Given the description of an element on the screen output the (x, y) to click on. 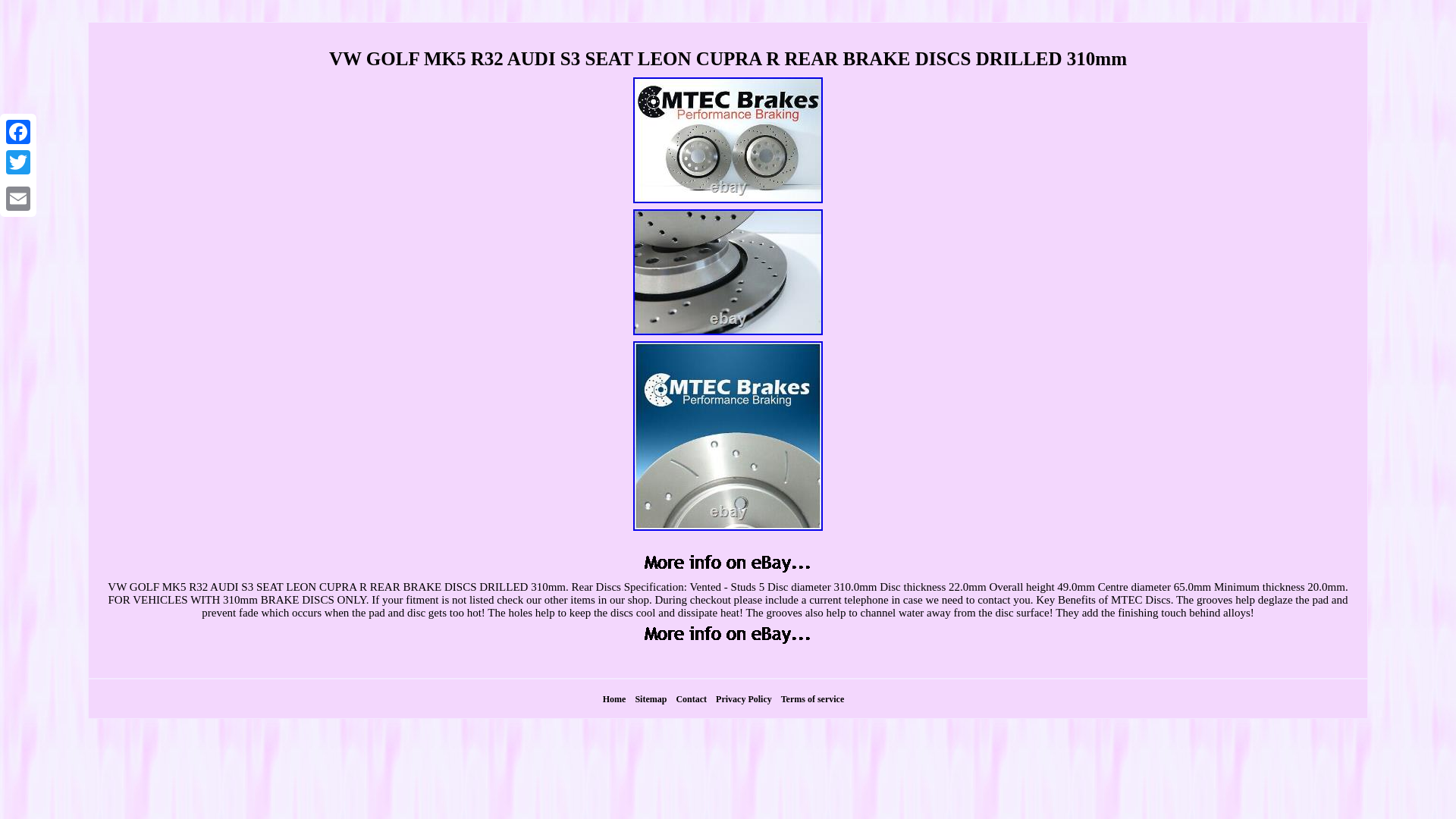
Twitter (17, 162)
Email (17, 198)
Facebook (17, 132)
